Given the description of an element on the screen output the (x, y) to click on. 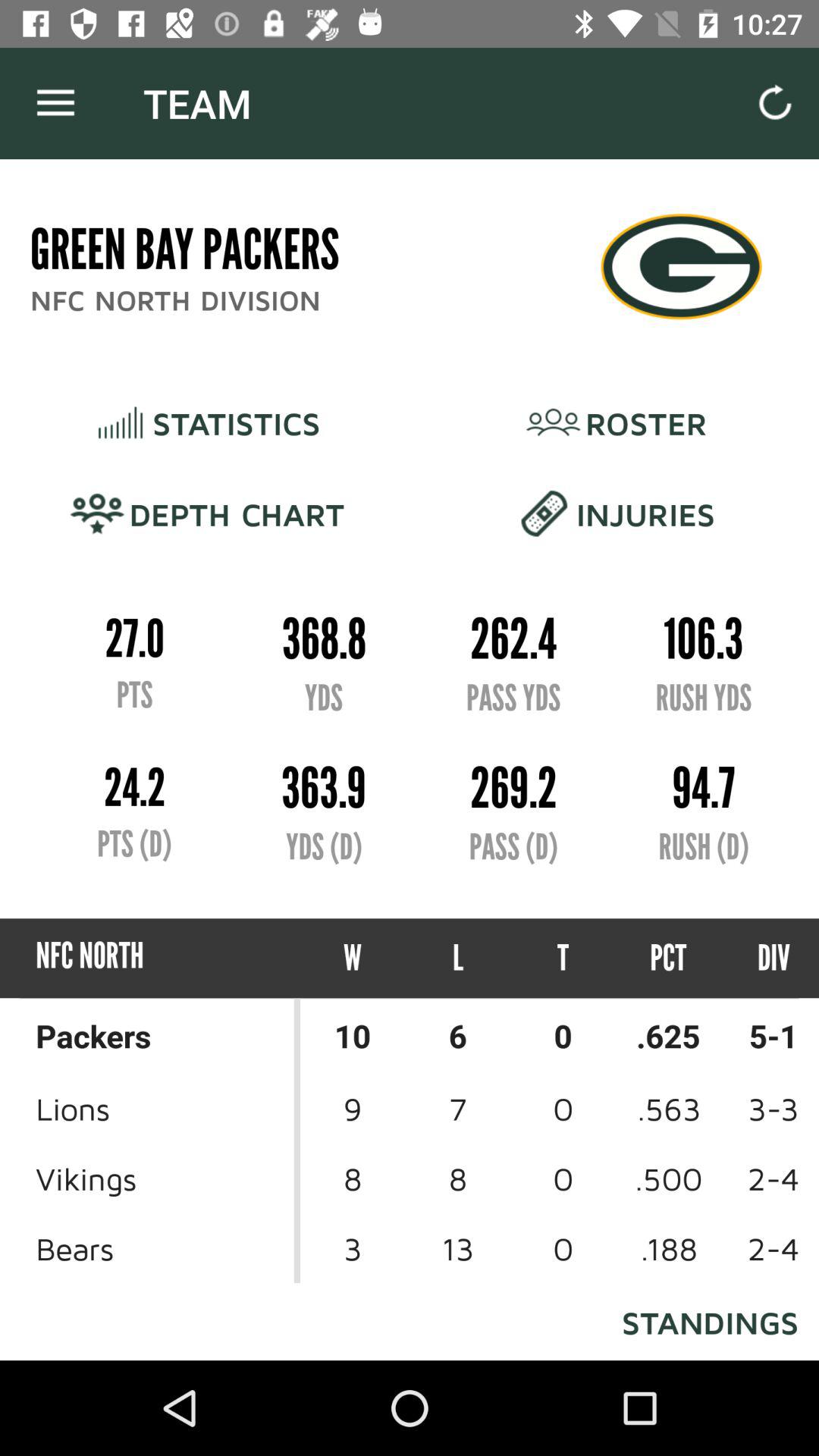
click the icon to the right of the l icon (562, 958)
